Given the description of an element on the screen output the (x, y) to click on. 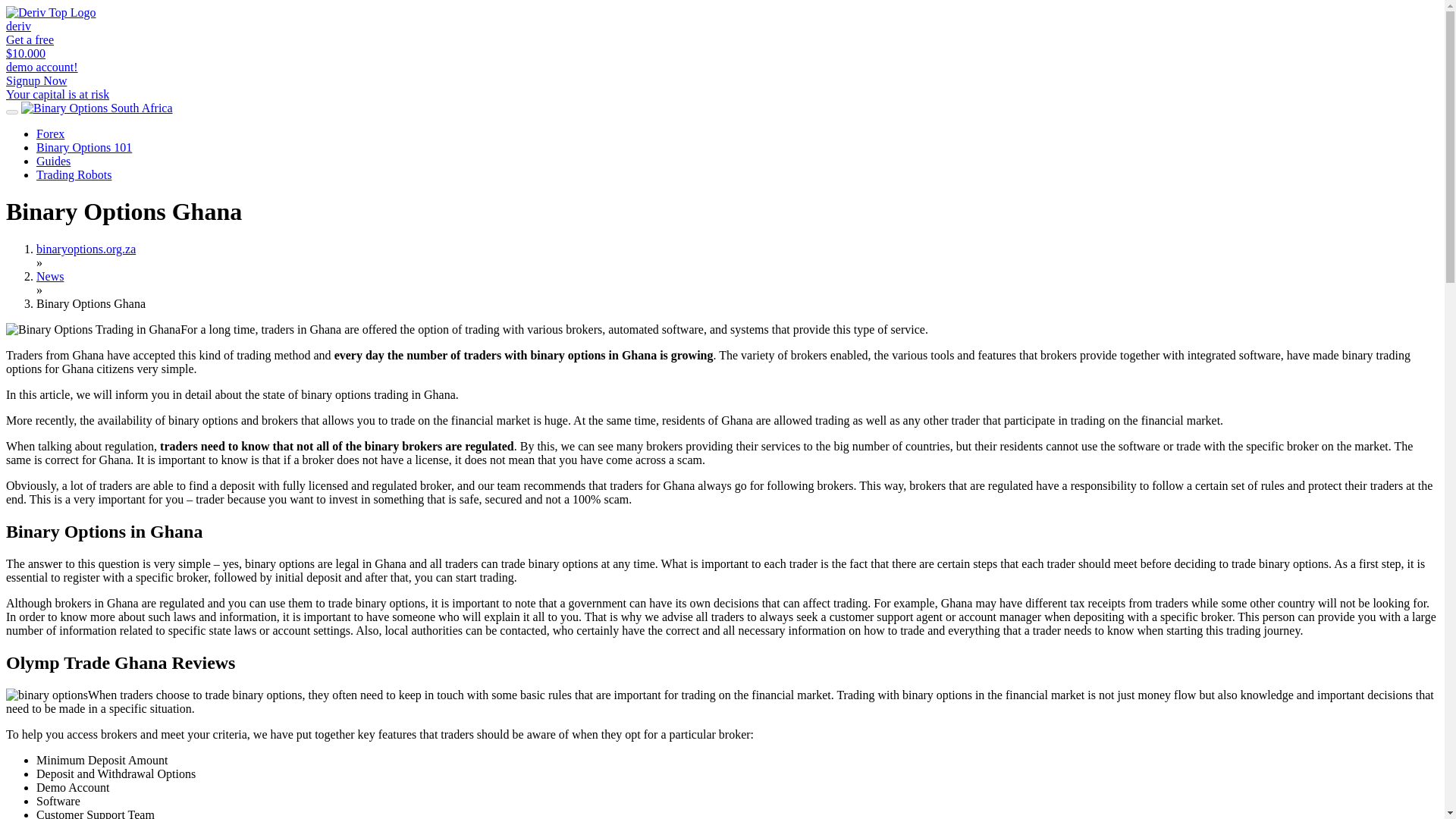
Binary Options 101 (84, 146)
binaryoptions.org.za (85, 248)
Guides (52, 160)
Show mobile menu (11, 111)
News (50, 276)
Forex (50, 133)
Trading Robots (74, 174)
